Given the description of an element on the screen output the (x, y) to click on. 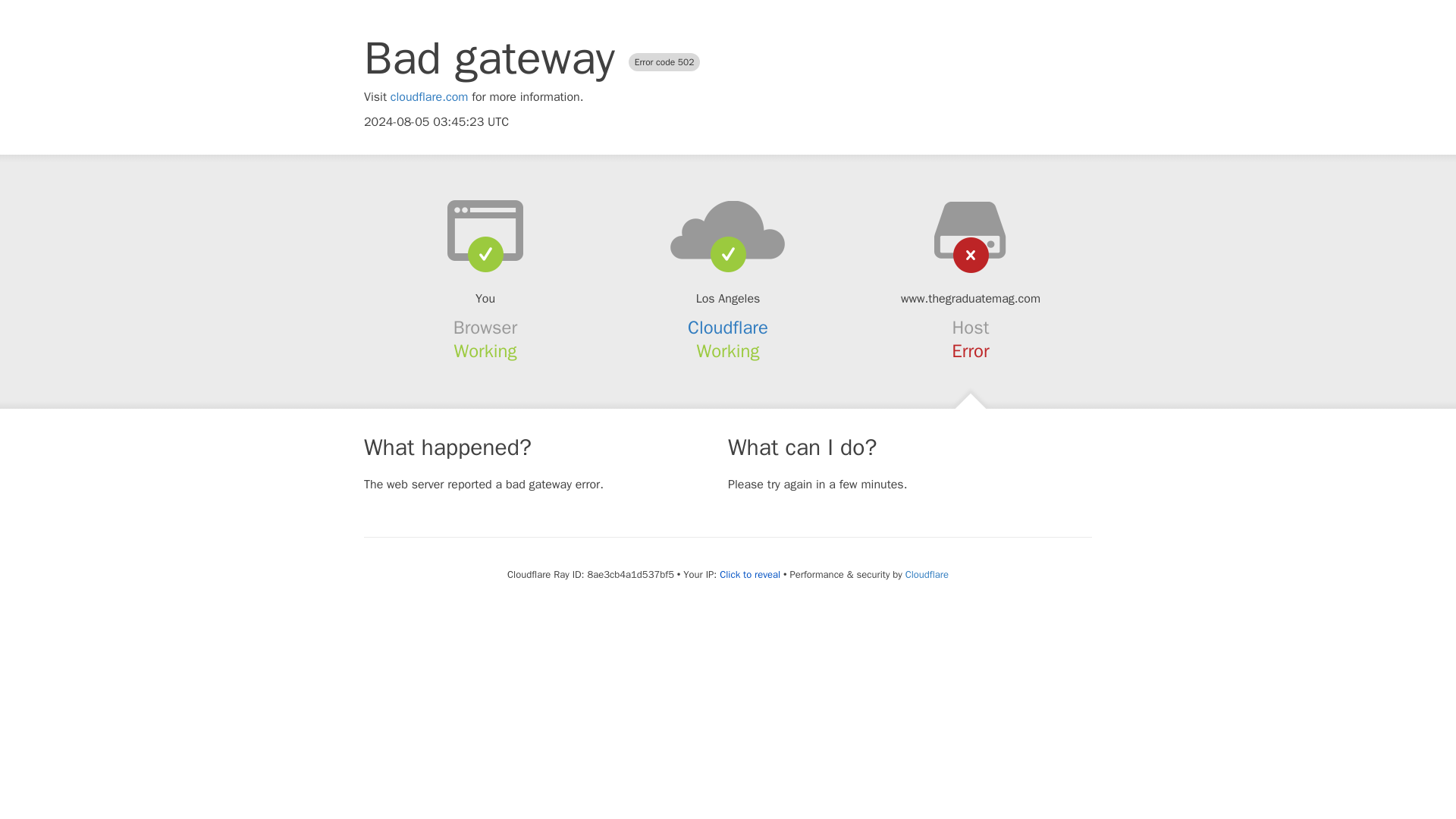
Click to reveal (749, 574)
Cloudflare (727, 327)
cloudflare.com (429, 96)
Cloudflare (927, 574)
